Given the description of an element on the screen output the (x, y) to click on. 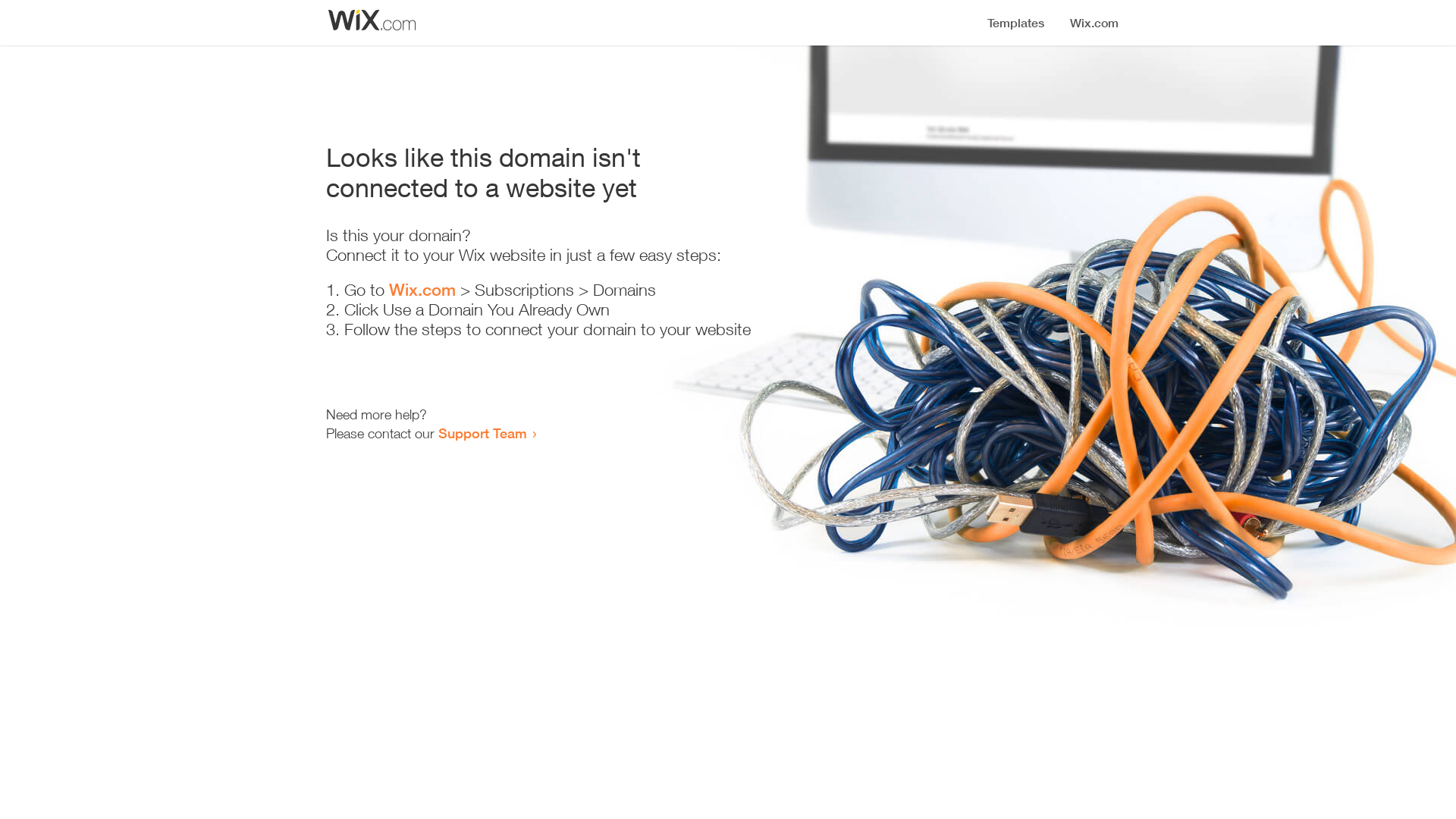
Support Team Element type: text (482, 432)
Wix.com Element type: text (422, 289)
